Given the description of an element on the screen output the (x, y) to click on. 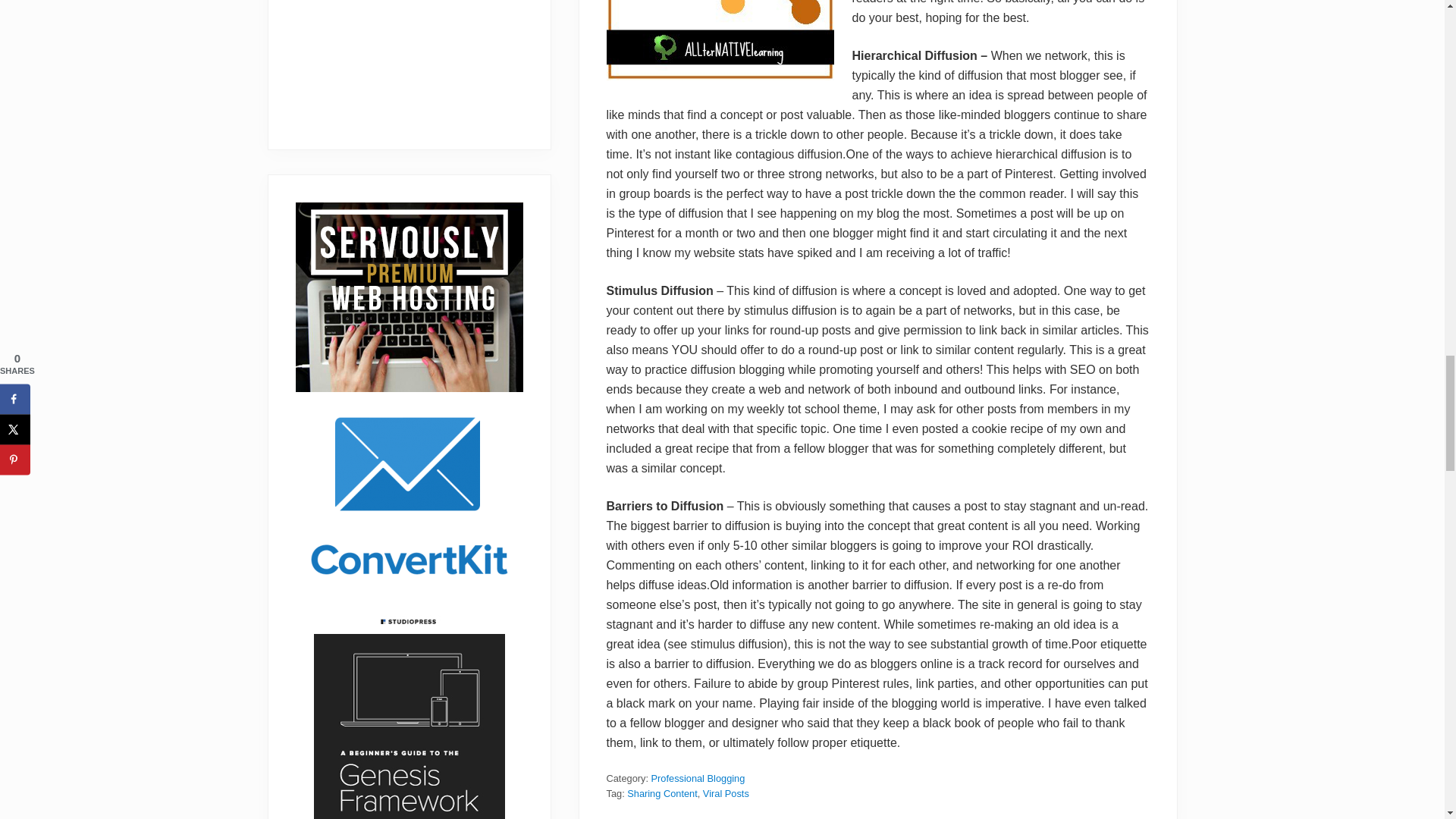
Sharing Content (662, 793)
Professional Blogging (697, 778)
Viral Posts (726, 793)
